Given the description of an element on the screen output the (x, y) to click on. 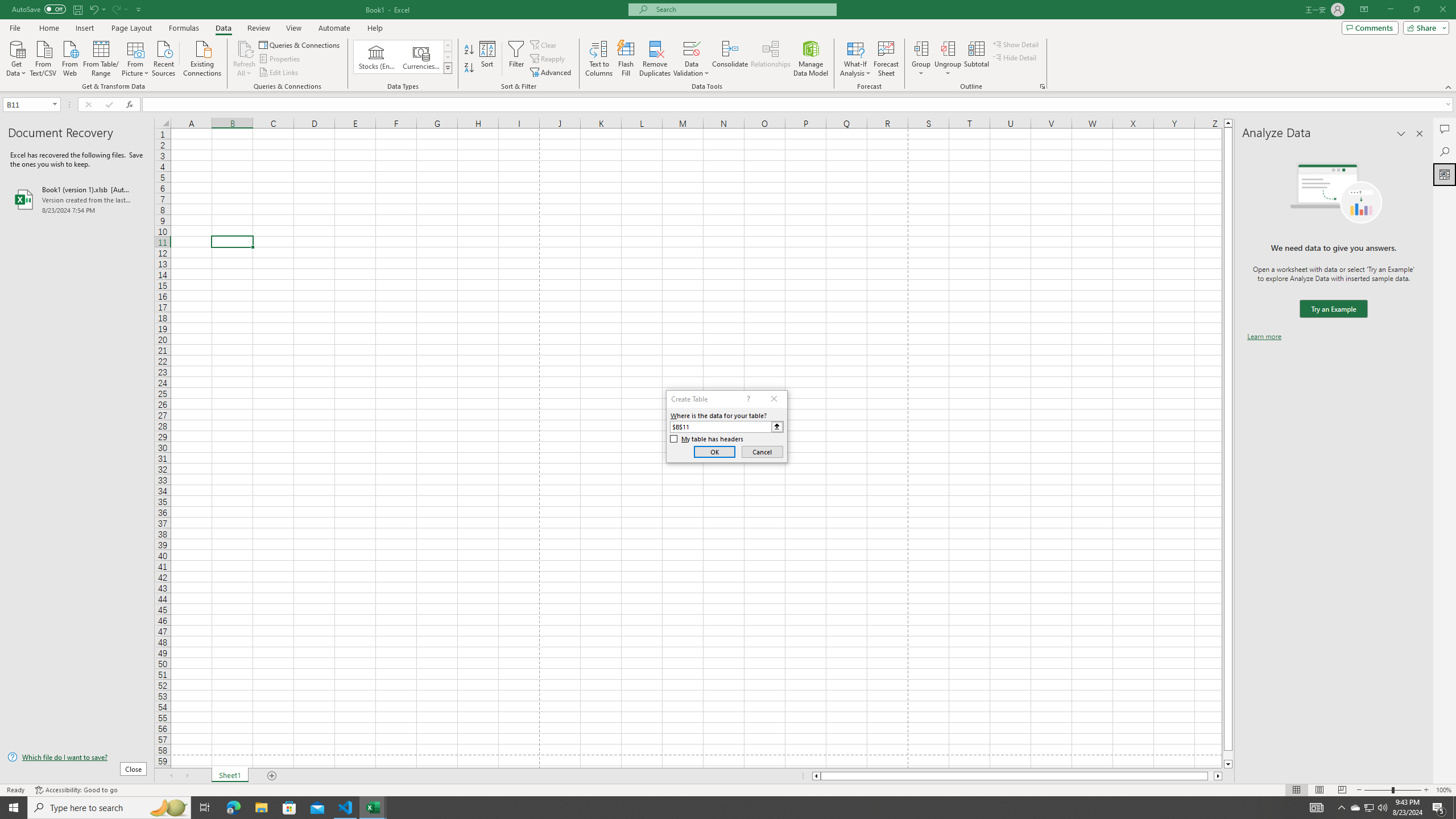
Manage Data Model (810, 58)
Text to Columns... (598, 58)
Sort Z to A (469, 67)
Stocks (English) (375, 56)
Currencies (English) (420, 56)
Sort... (487, 58)
